Given the description of an element on the screen output the (x, y) to click on. 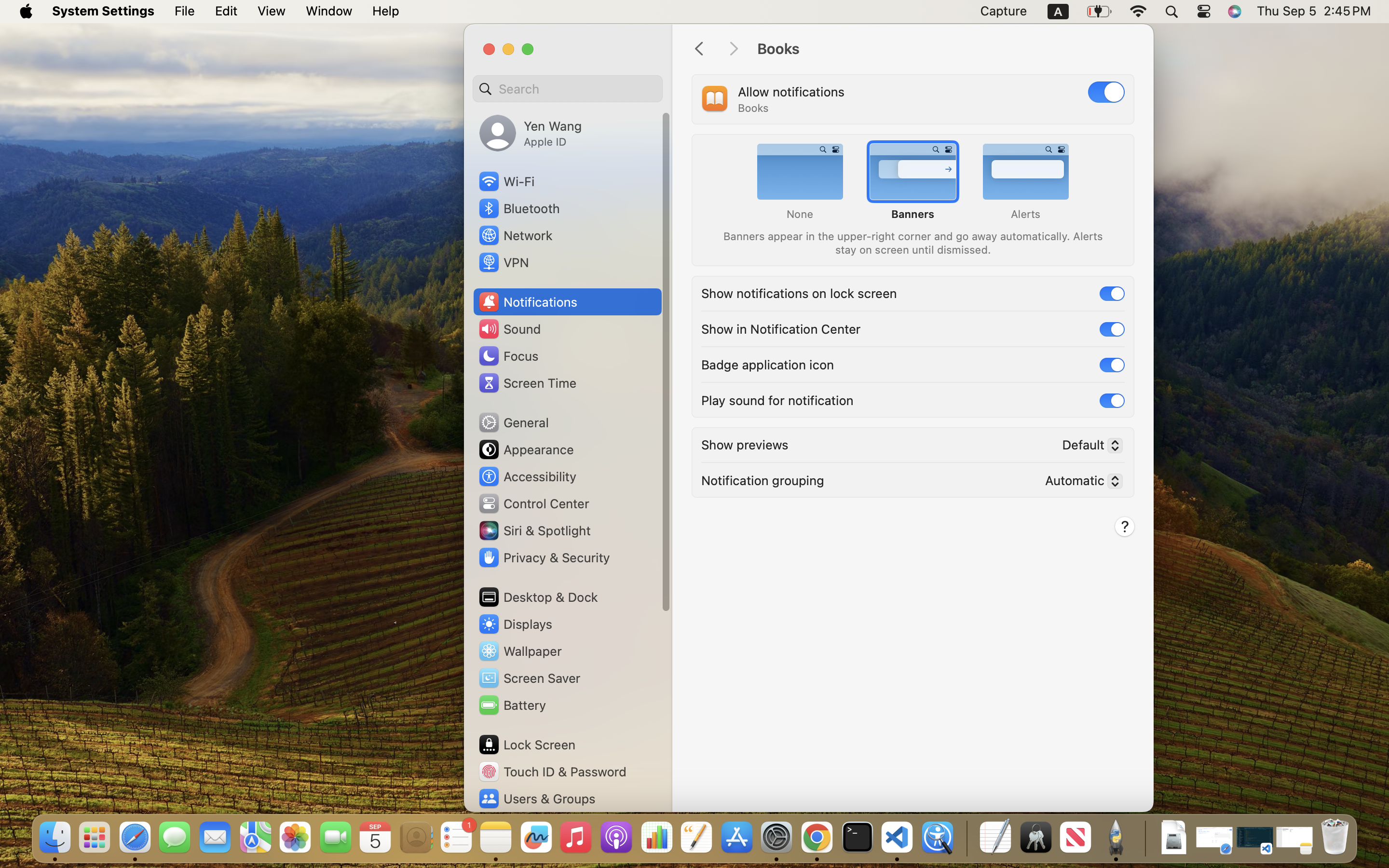
Bluetooth Element type: AXStaticText (518, 207)
Notification grouping Element type: AXStaticText (762, 479)
Accessibility Element type: AXStaticText (526, 476)
Lock Screen Element type: AXStaticText (526, 744)
Touch ID & Password Element type: AXStaticText (551, 771)
